Given the description of an element on the screen output the (x, y) to click on. 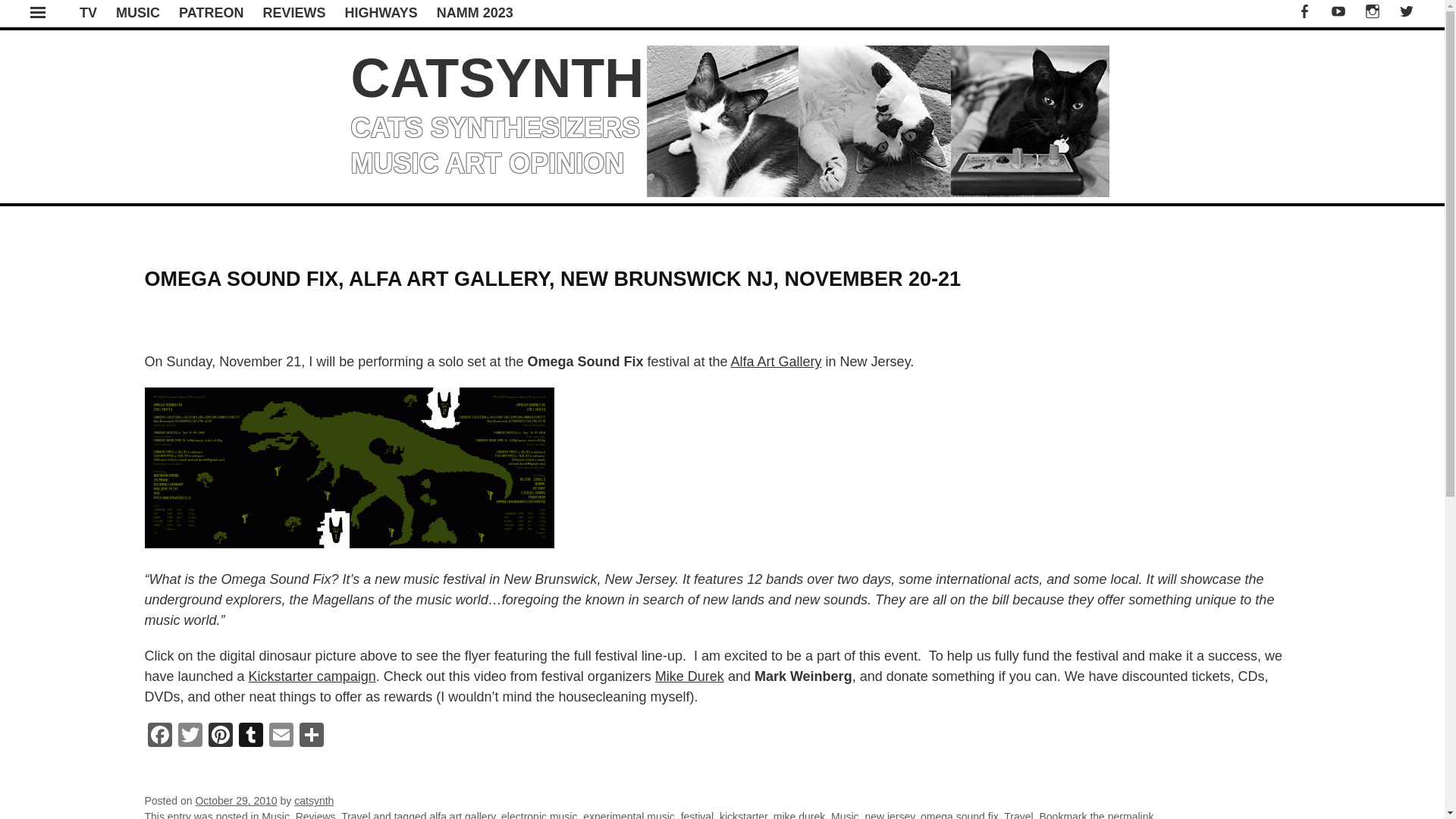
NAMM 2023 (474, 12)
REVIEWS (293, 12)
Tumblr (249, 736)
Twitter (189, 736)
CATSYNTH (496, 77)
MUSIC (138, 12)
PATREON (211, 12)
Pinterest (219, 736)
Email (279, 736)
TV (88, 12)
Facebook (159, 736)
HIGHWAYS (379, 12)
